Given the description of an element on the screen output the (x, y) to click on. 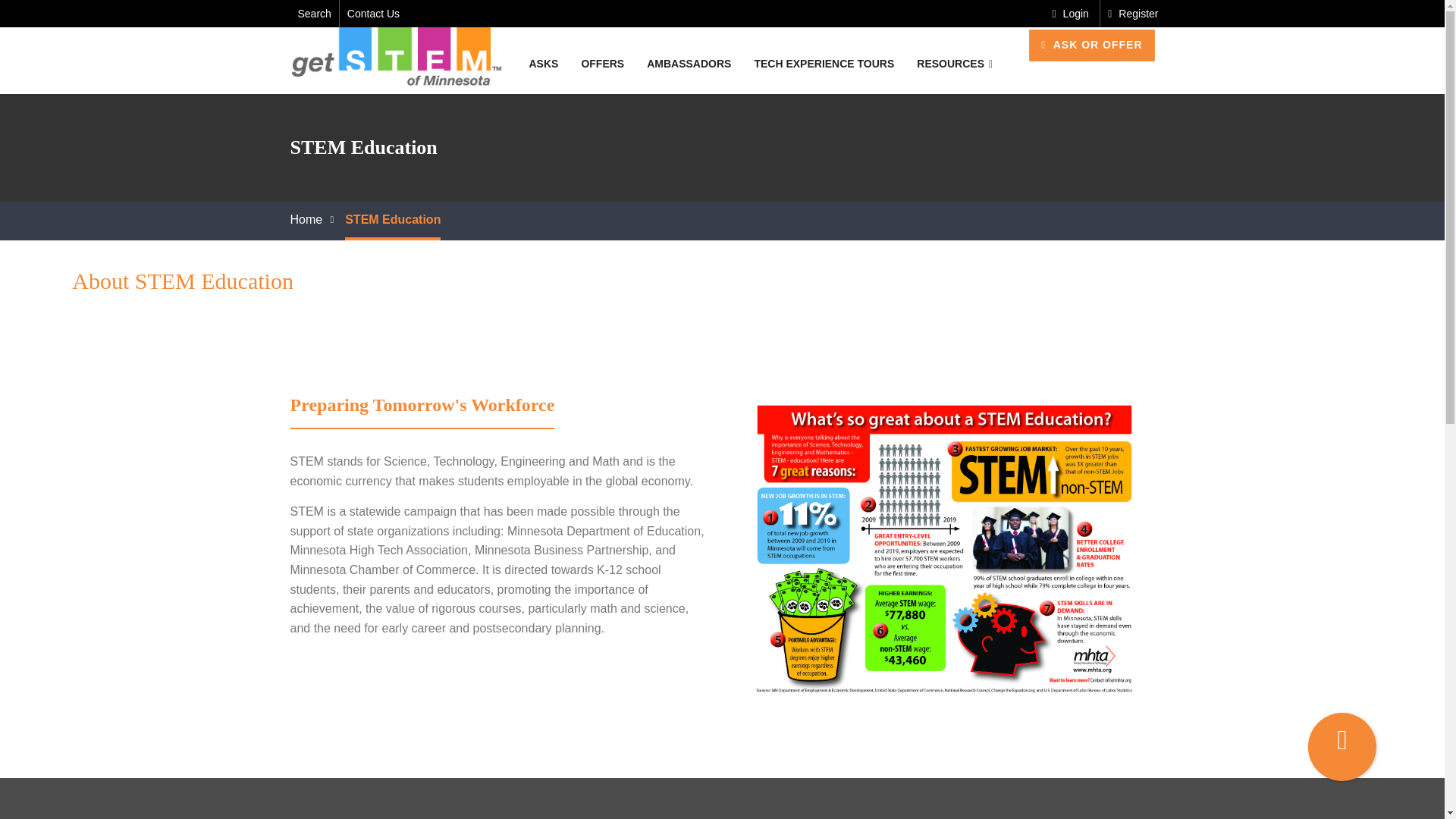
ASKS (542, 63)
Login (1070, 13)
Contact Us (372, 13)
STEM Education (393, 220)
RESOURCES (948, 63)
ASK OR OFFER (1091, 45)
TECH EXPERIENCE TOURS (823, 63)
Search (313, 13)
AMBASSADORS (688, 63)
Home (305, 219)
